Given the description of an element on the screen output the (x, y) to click on. 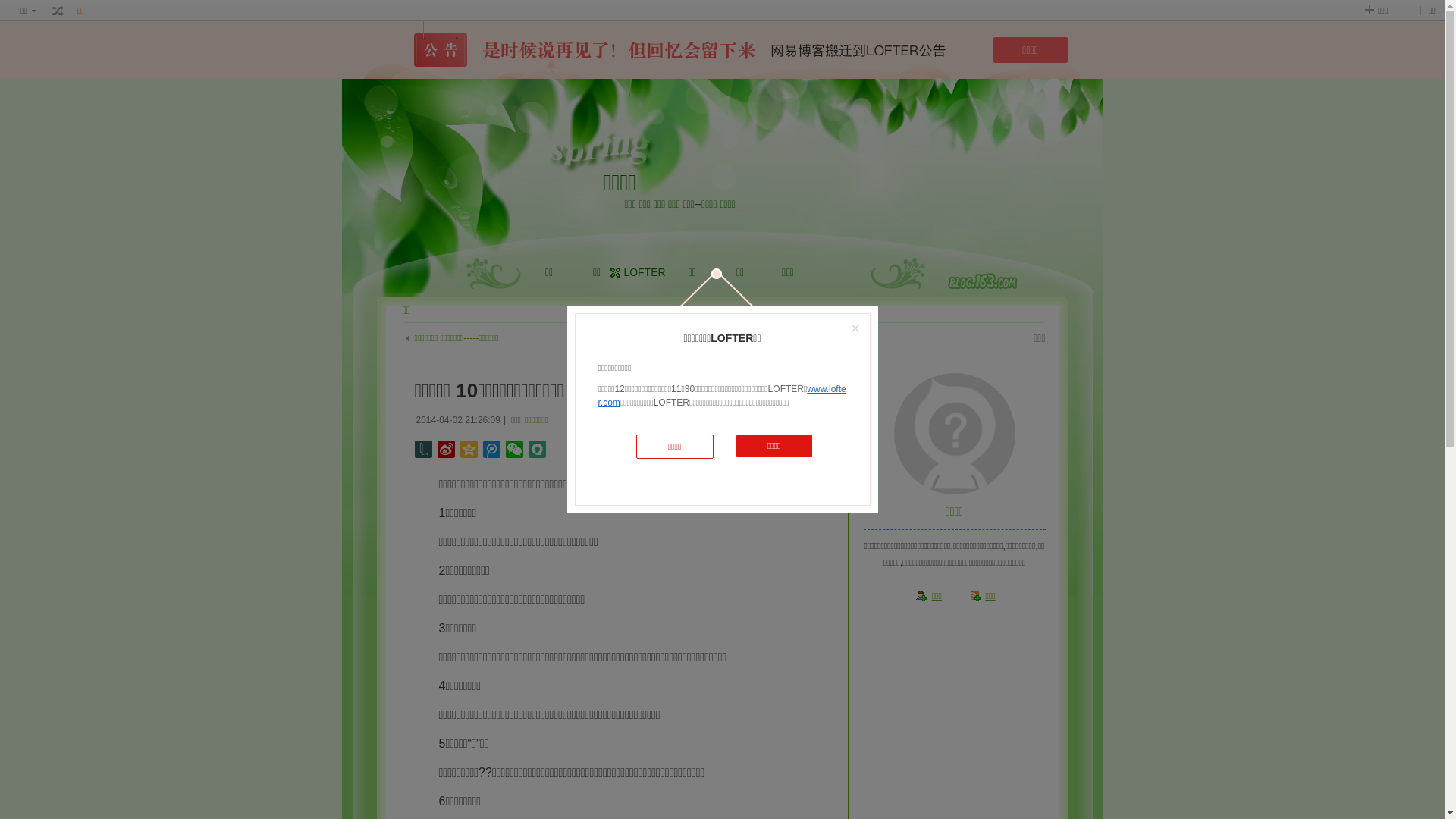
www.lofter.com Element type: text (721, 395)
LOFTER Element type: text (644, 271)
  Element type: text (58, 10)
